Given the description of an element on the screen output the (x, y) to click on. 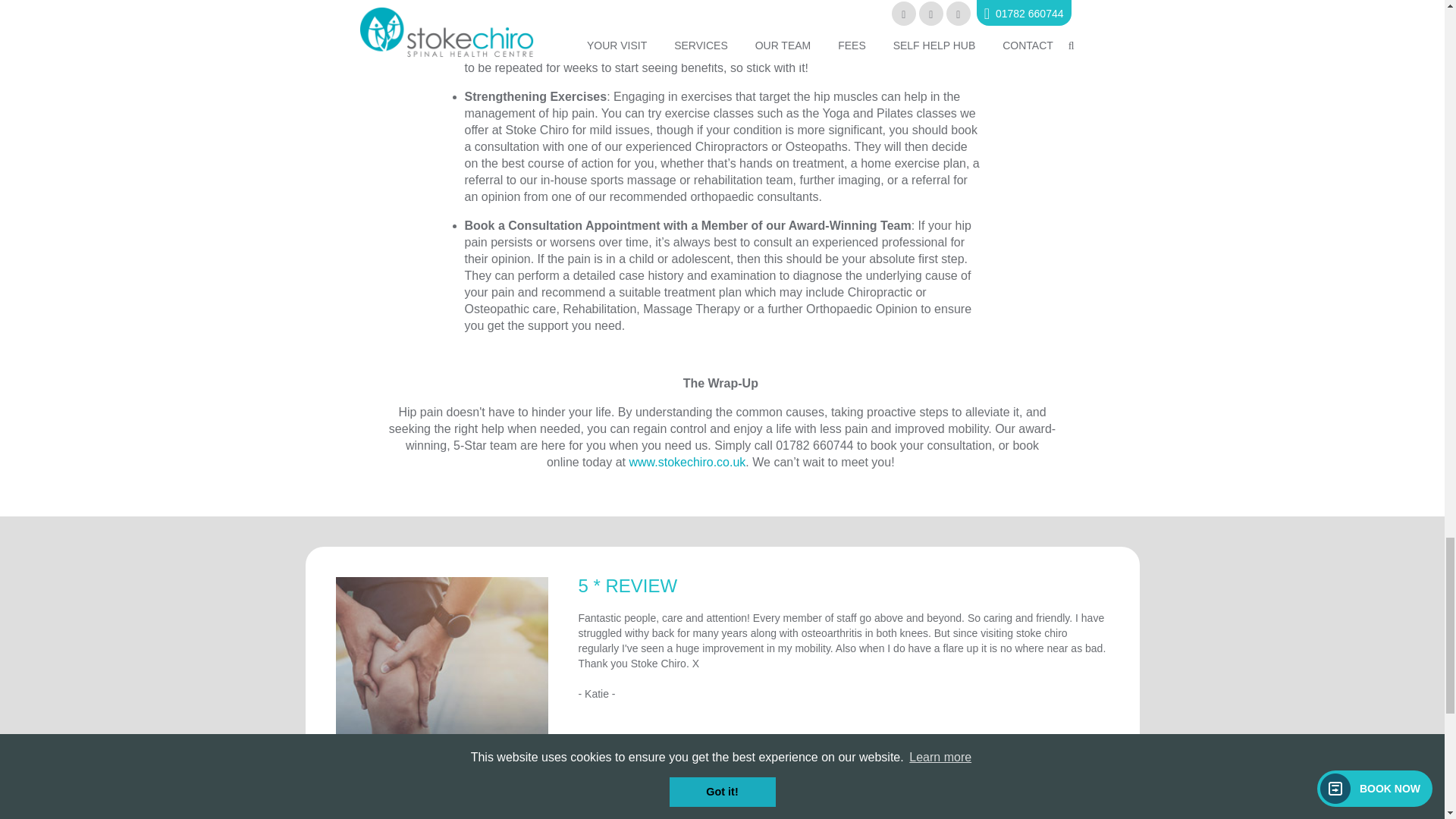
www.stokechiro.co.uk (686, 461)
